Given the description of an element on the screen output the (x, y) to click on. 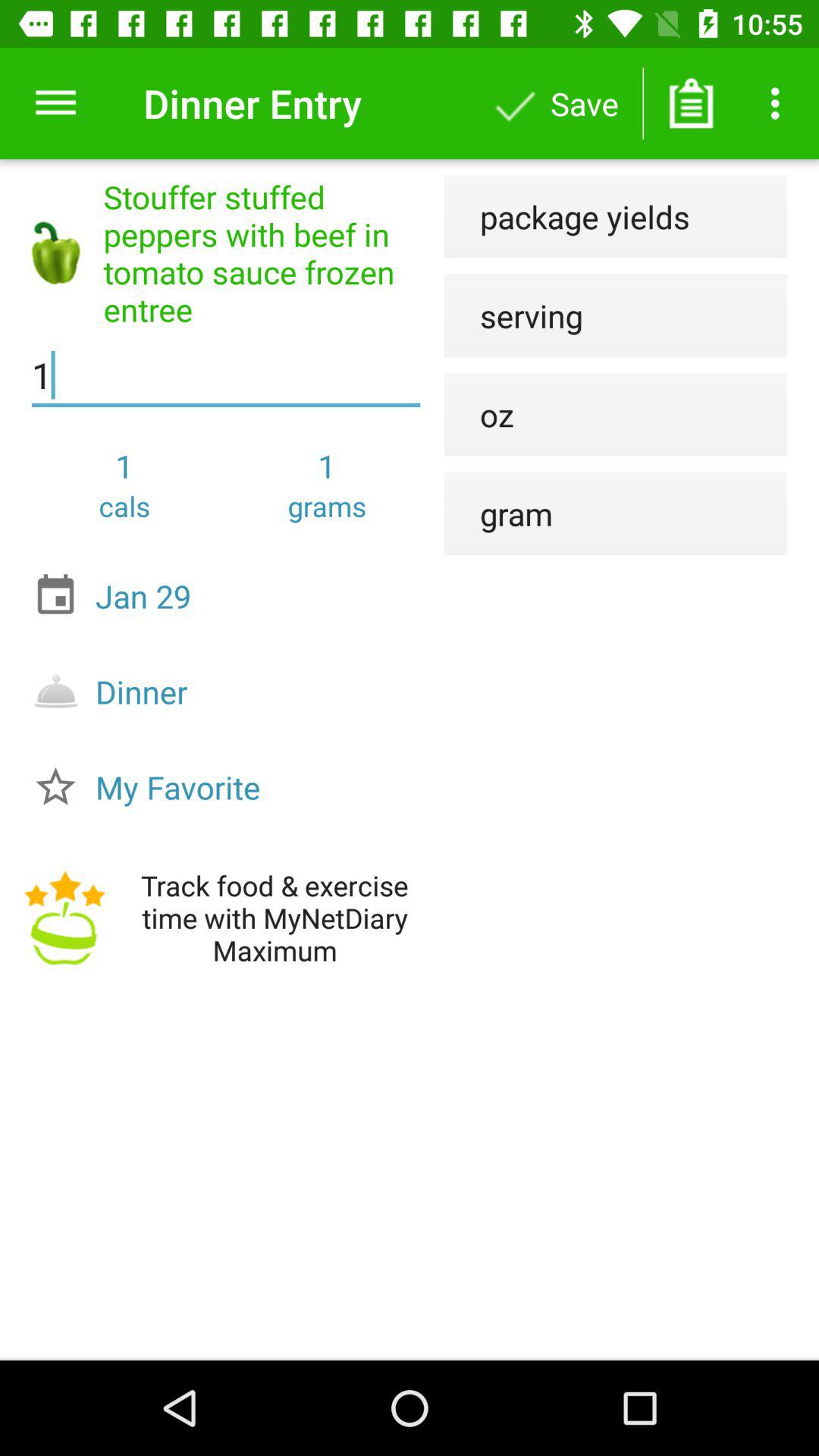
press the icon below   serving item (479, 414)
